Given the description of an element on the screen output the (x, y) to click on. 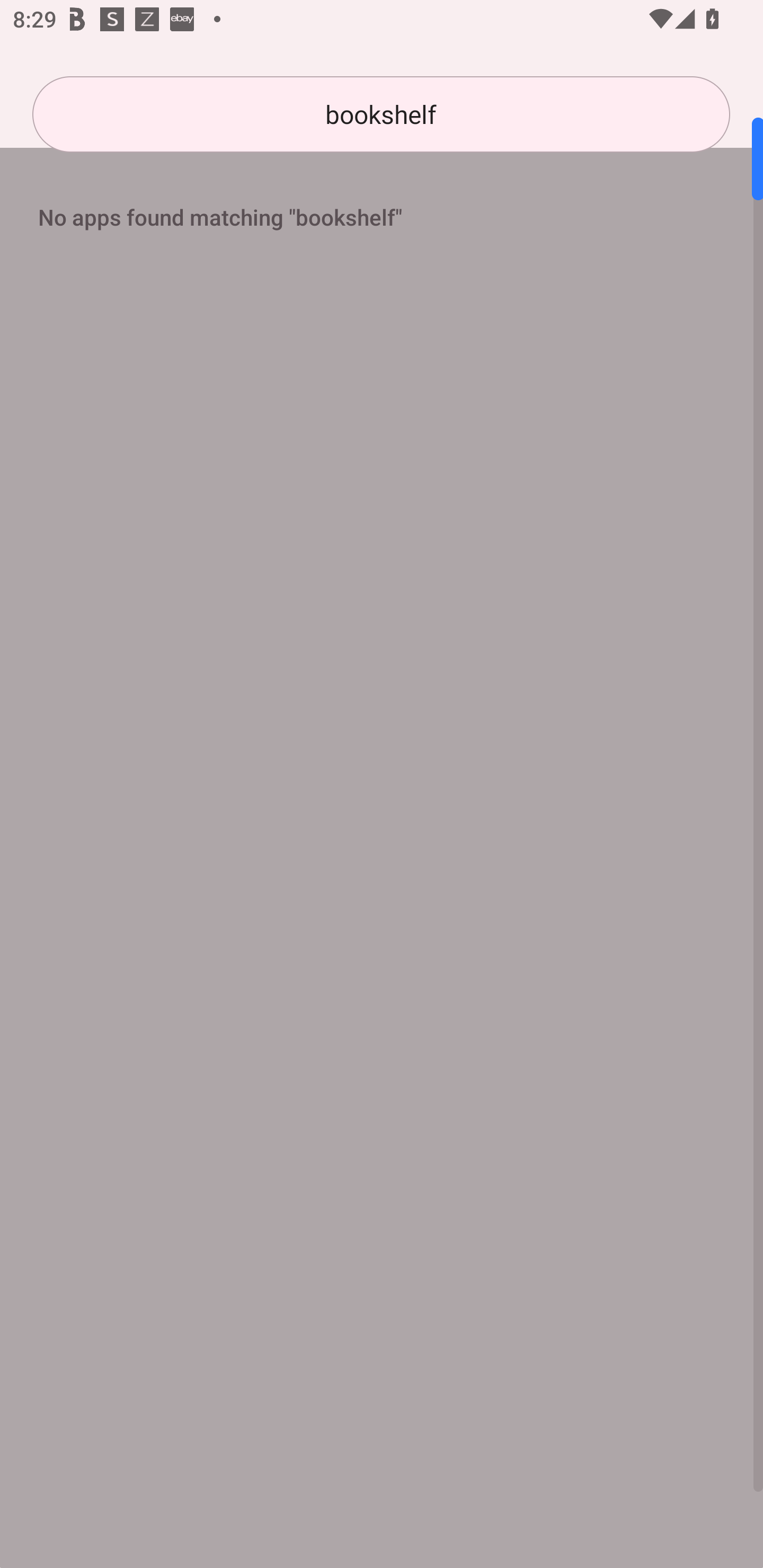
bookshelf (381, 114)
